Given the description of an element on the screen output the (x, y) to click on. 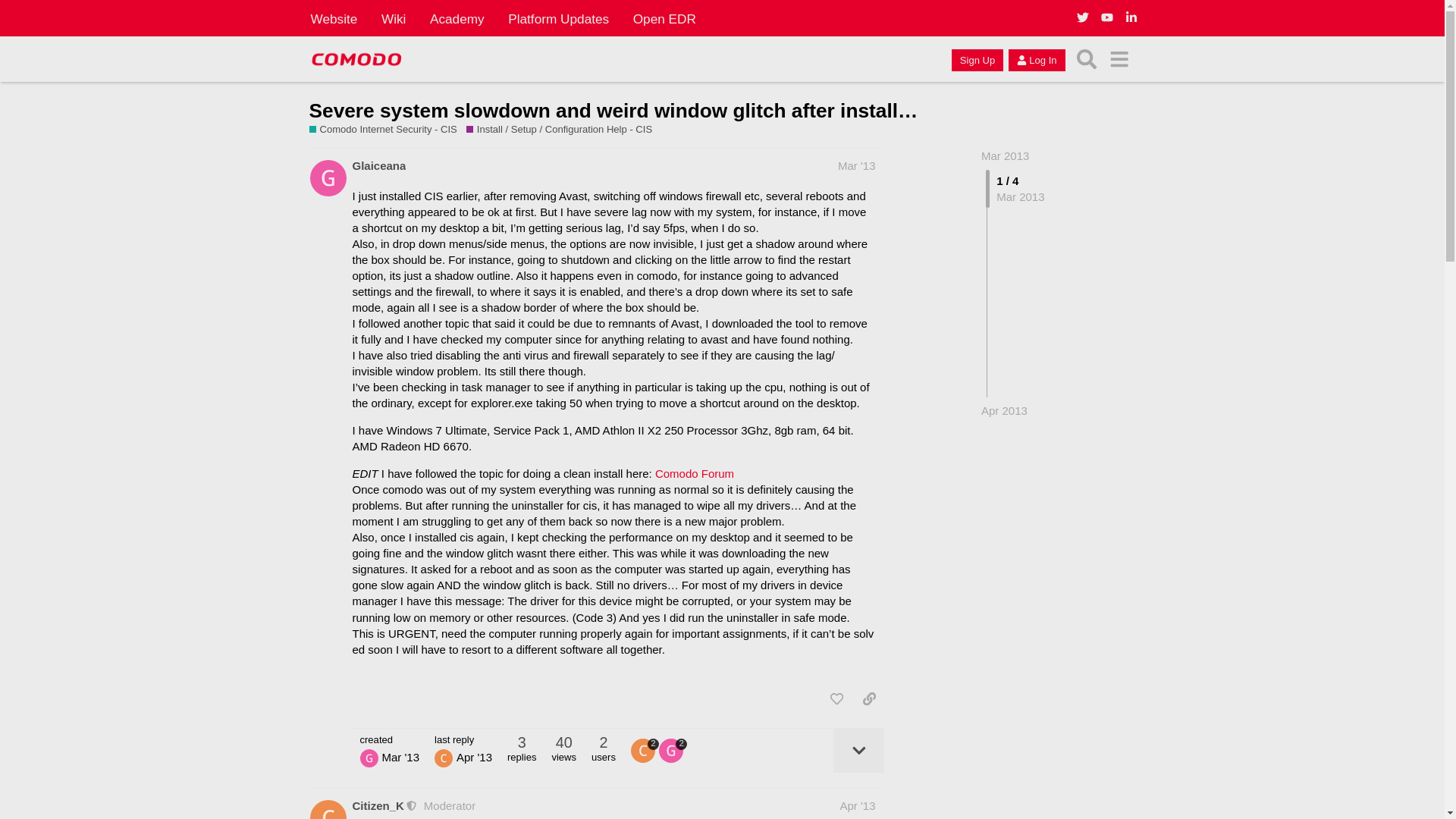
Apr '13 (857, 805)
Need help with the installation or setup of CIS? (564, 129)
Wiki (393, 18)
Academy (456, 18)
Mar 2013 (1005, 155)
Website (333, 18)
Log In (1036, 60)
last reply (462, 739)
Wiki (393, 18)
Search (1086, 59)
